Given the description of an element on the screen output the (x, y) to click on. 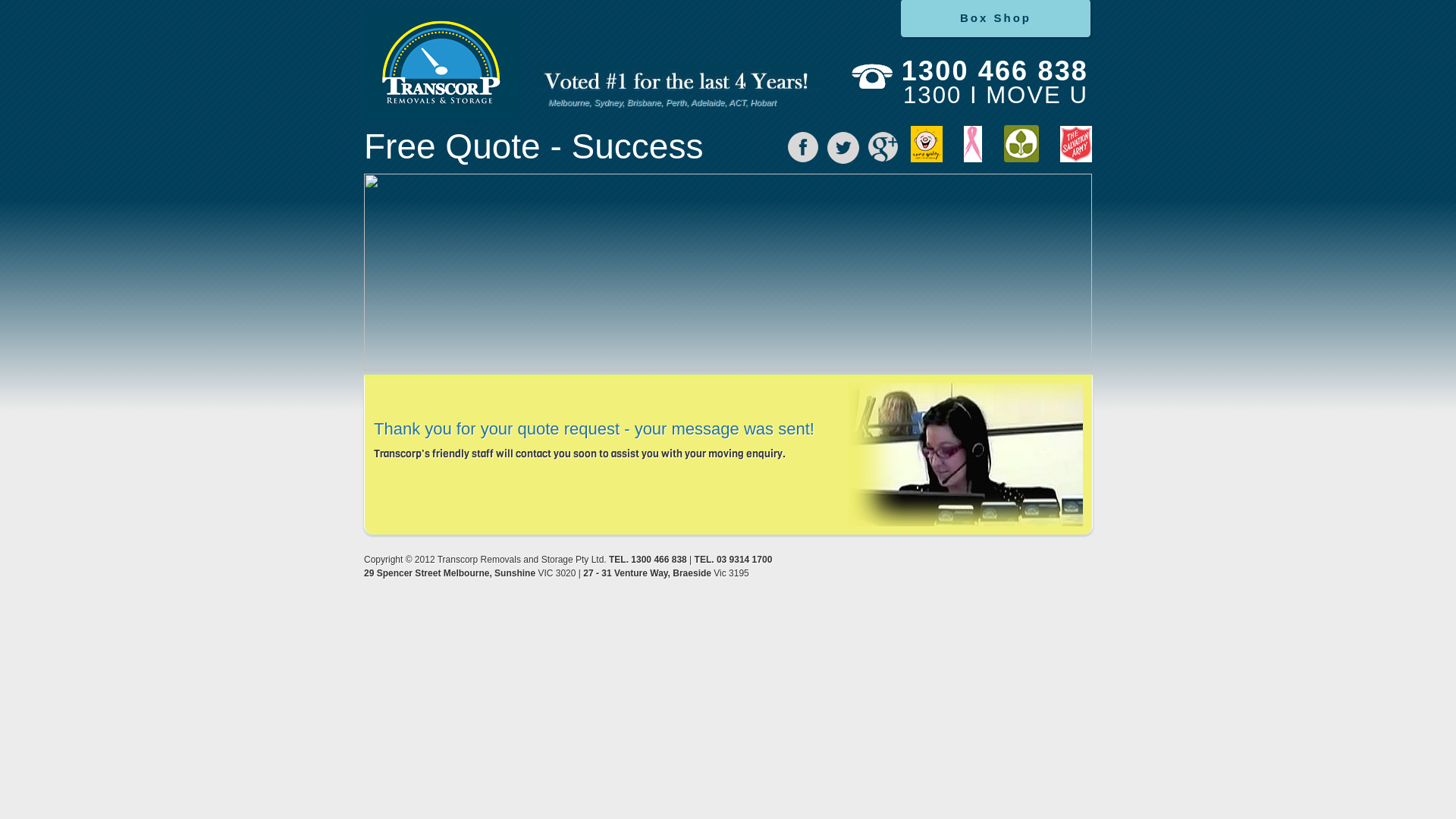
Camp Quality Element type: hover (926, 143)
Australian Conservation Foundation Element type: hover (1021, 143)
Follow us on Google+ Element type: hover (882, 146)
We proudly support these charities Element type: hover (991, 145)
National Breast Cancer Foundation Element type: hover (972, 143)
Salvation Army Element type: hover (1076, 143)
Follow Transcorp on Facebook Element type: hover (802, 146)
Follow Transcorp on Twitter Element type: hover (843, 147)
